Given the description of an element on the screen output the (x, y) to click on. 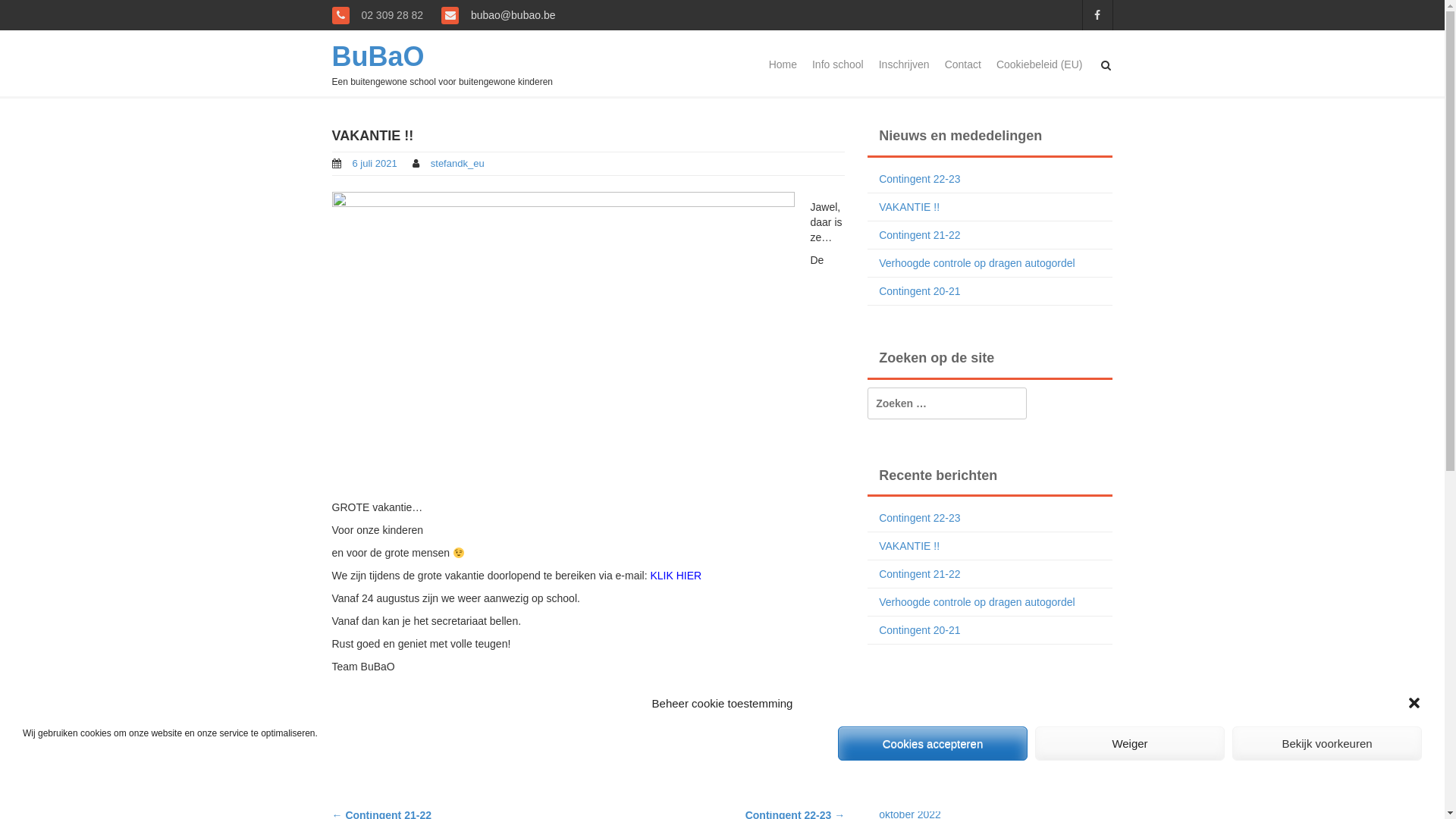
BuBaO Element type: text (378, 56)
Verhoogde controle op dragen autogordel Element type: text (976, 602)
VAKANTIE !! Element type: text (908, 545)
Home Element type: text (782, 64)
Contingent 22-23 Element type: text (919, 178)
Inschrijven Element type: text (904, 64)
stefandk_eu Element type: text (457, 163)
Contingent 22-23 Element type: text (919, 517)
Contingent 21-22 Element type: text (919, 573)
Zoeken Element type: text (33, 13)
Weiger Element type: text (1129, 743)
Contact Element type: text (962, 64)
Contingent 21-22 Element type: text (919, 235)
bubao@bubao.be Element type: text (511, 15)
Geen categorie Element type: text (383, 718)
Cookiebeleid (EU) Element type: text (1039, 64)
Info school Element type: text (837, 64)
Bekijk voorkeuren Element type: text (1326, 743)
Contingent 20-21 Element type: text (919, 630)
KLIK HIER Element type: text (675, 575)
6 juli 2021 Element type: text (373, 163)
Cookies accepteren Element type: text (932, 743)
Contingent 20-21 Element type: text (919, 291)
VAKANTIE !! Element type: text (908, 206)
Verhoogde controle op dragen autogordel Element type: text (976, 263)
